Given the description of an element on the screen output the (x, y) to click on. 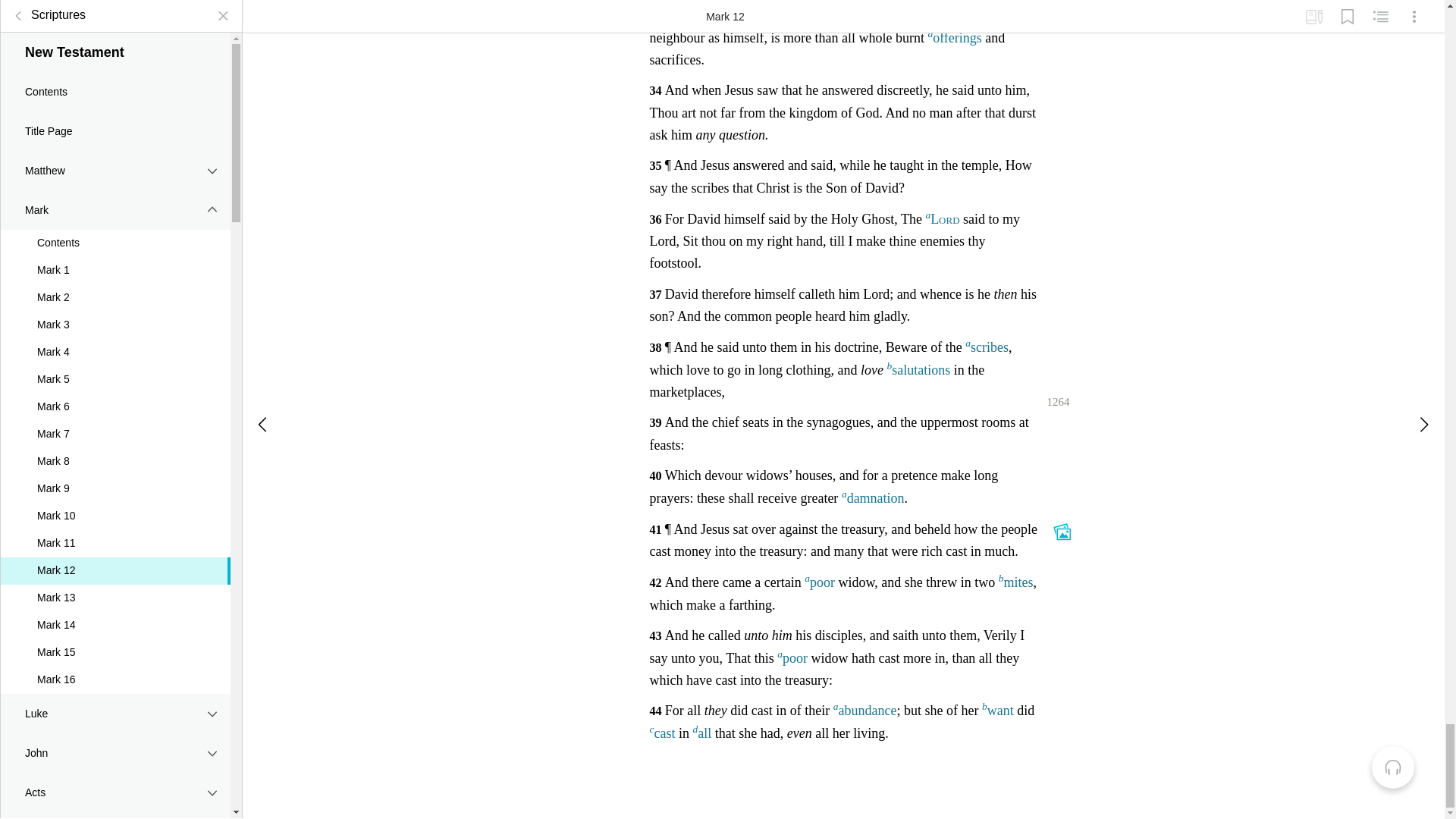
Associated Content (1061, 528)
